Given the description of an element on the screen output the (x, y) to click on. 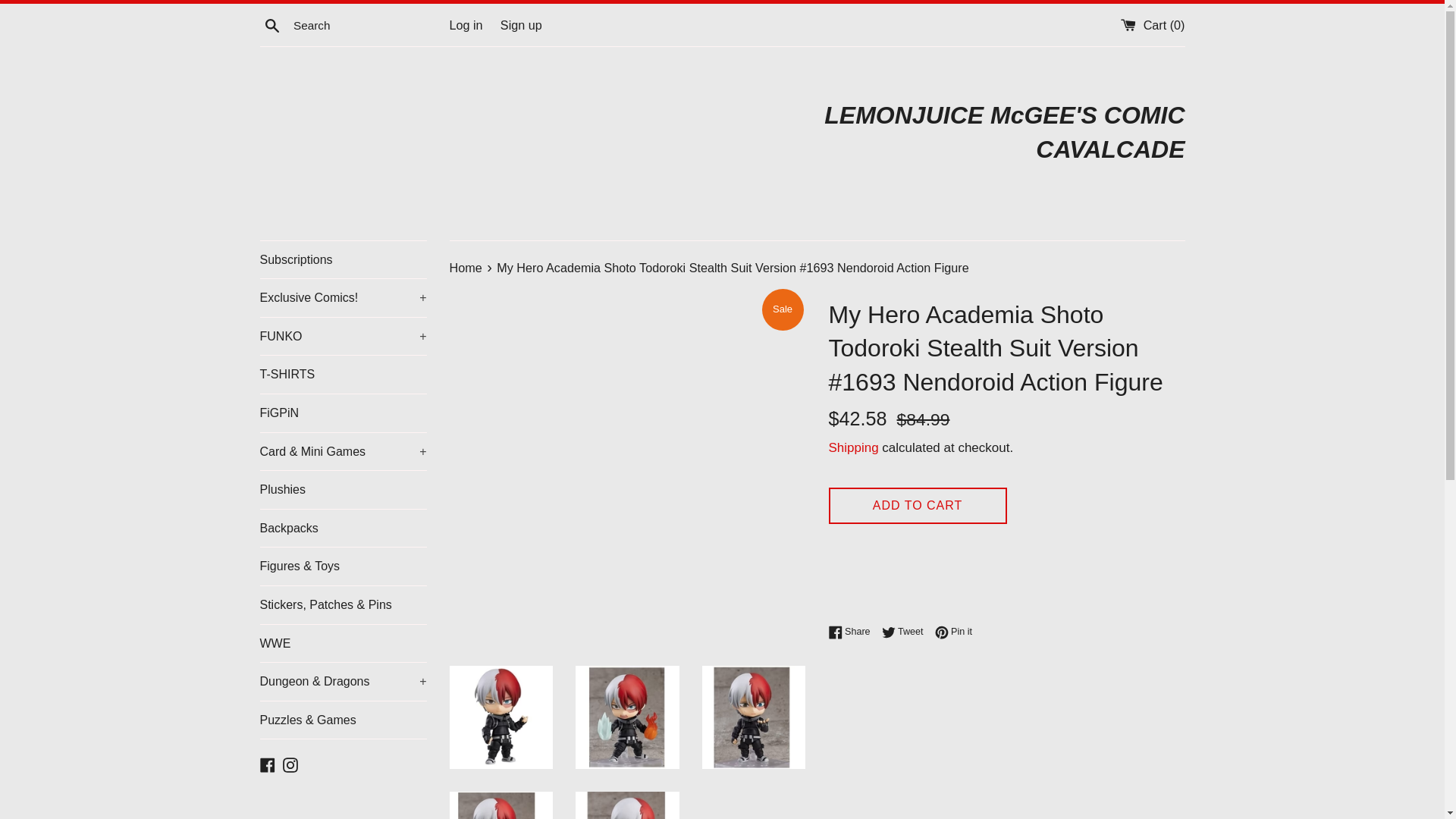
Plushies (342, 489)
Sign up (520, 24)
WWE (342, 643)
Back to the frontpage (466, 267)
FiGPiN (342, 412)
Pin on Pinterest (953, 631)
T-SHIRTS (342, 374)
Backpacks (342, 528)
Share on Facebook (852, 631)
LemonJuice McGee's Comic Cavalcade on Facebook (267, 763)
Log in (464, 24)
LemonJuice McGee's Comic Cavalcade on Instagram (290, 763)
Subscriptions (342, 259)
Search (271, 24)
Tweet on Twitter (906, 631)
